Given the description of an element on the screen output the (x, y) to click on. 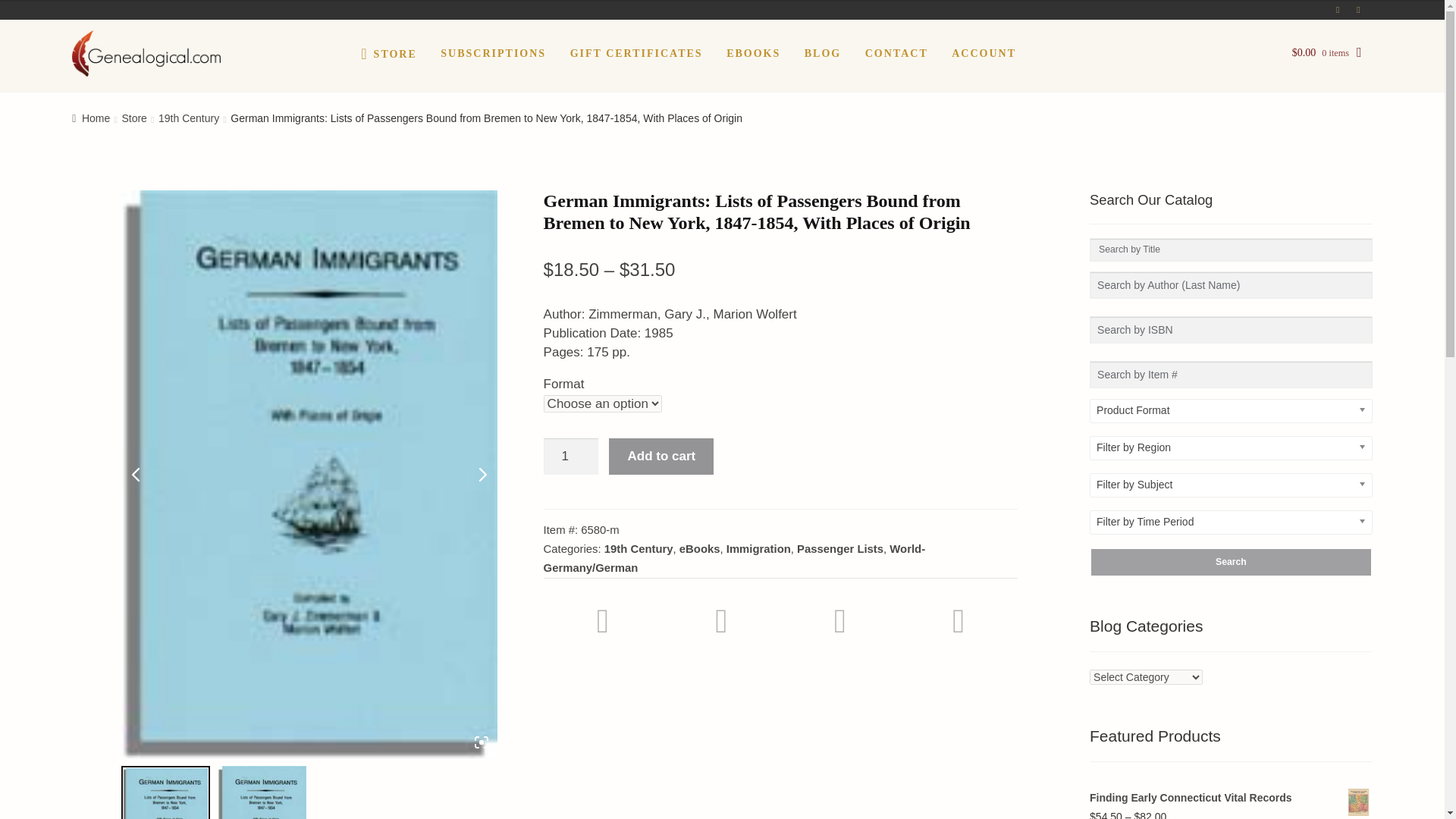
19th Century (188, 118)
Immigration (758, 548)
Add to cart (660, 456)
EBOOKS (753, 53)
Home (90, 118)
GIFT CERTIFICATES (636, 53)
19th Century (638, 548)
STORE (389, 53)
1 (570, 456)
View your shopping cart (1327, 61)
Passenger Lists (839, 548)
SUBSCRIPTIONS (492, 53)
CONTACT (896, 53)
